Given the description of an element on the screen output the (x, y) to click on. 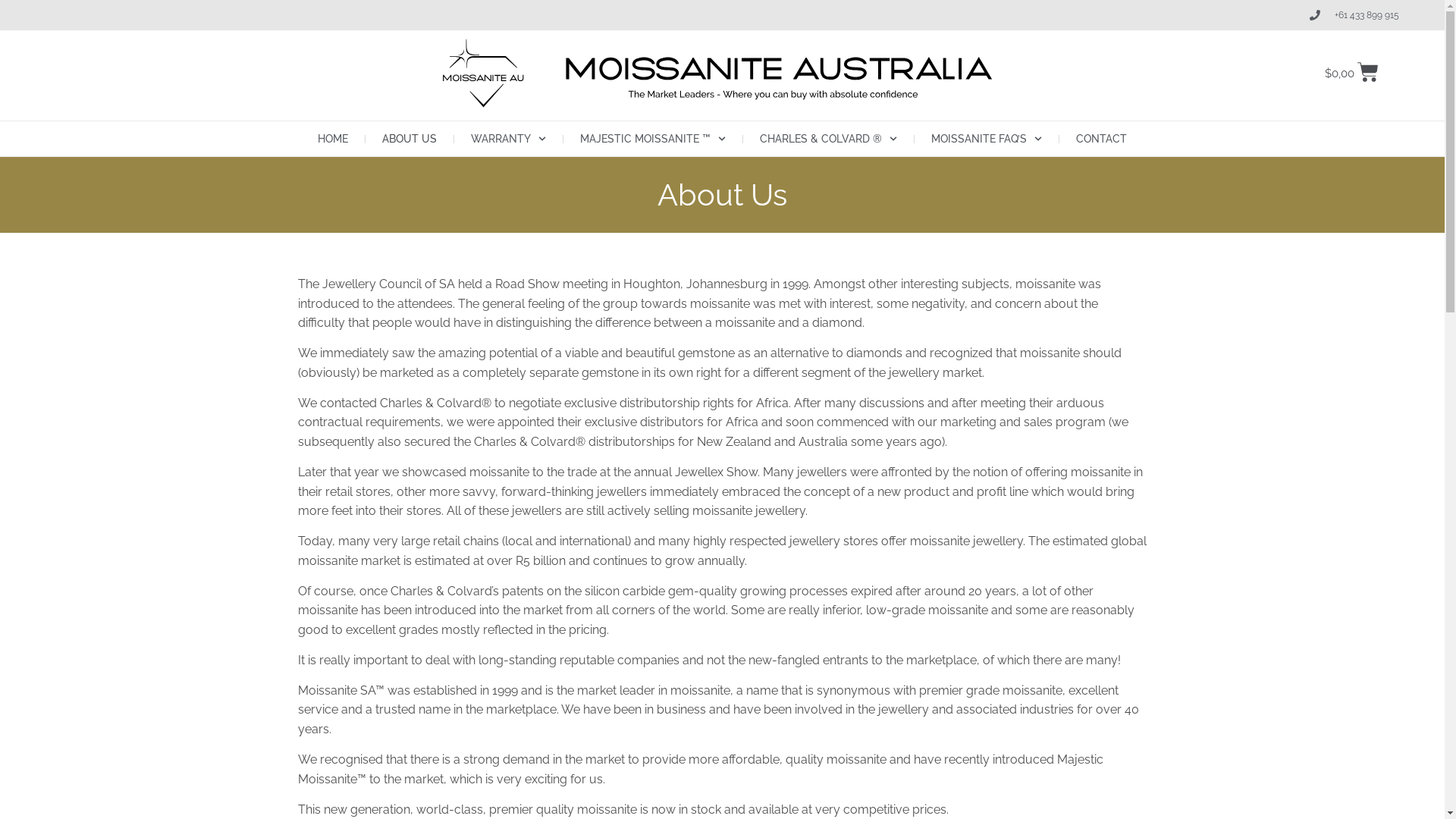
HOME Element type: text (332, 138)
ABOUT US Element type: text (409, 138)
CONTACT Element type: text (1101, 138)
+61 433 899 915 Element type: text (1353, 14)
WARRANTY Element type: text (508, 138)
$0,00 Element type: text (1351, 72)
